Given the description of an element on the screen output the (x, y) to click on. 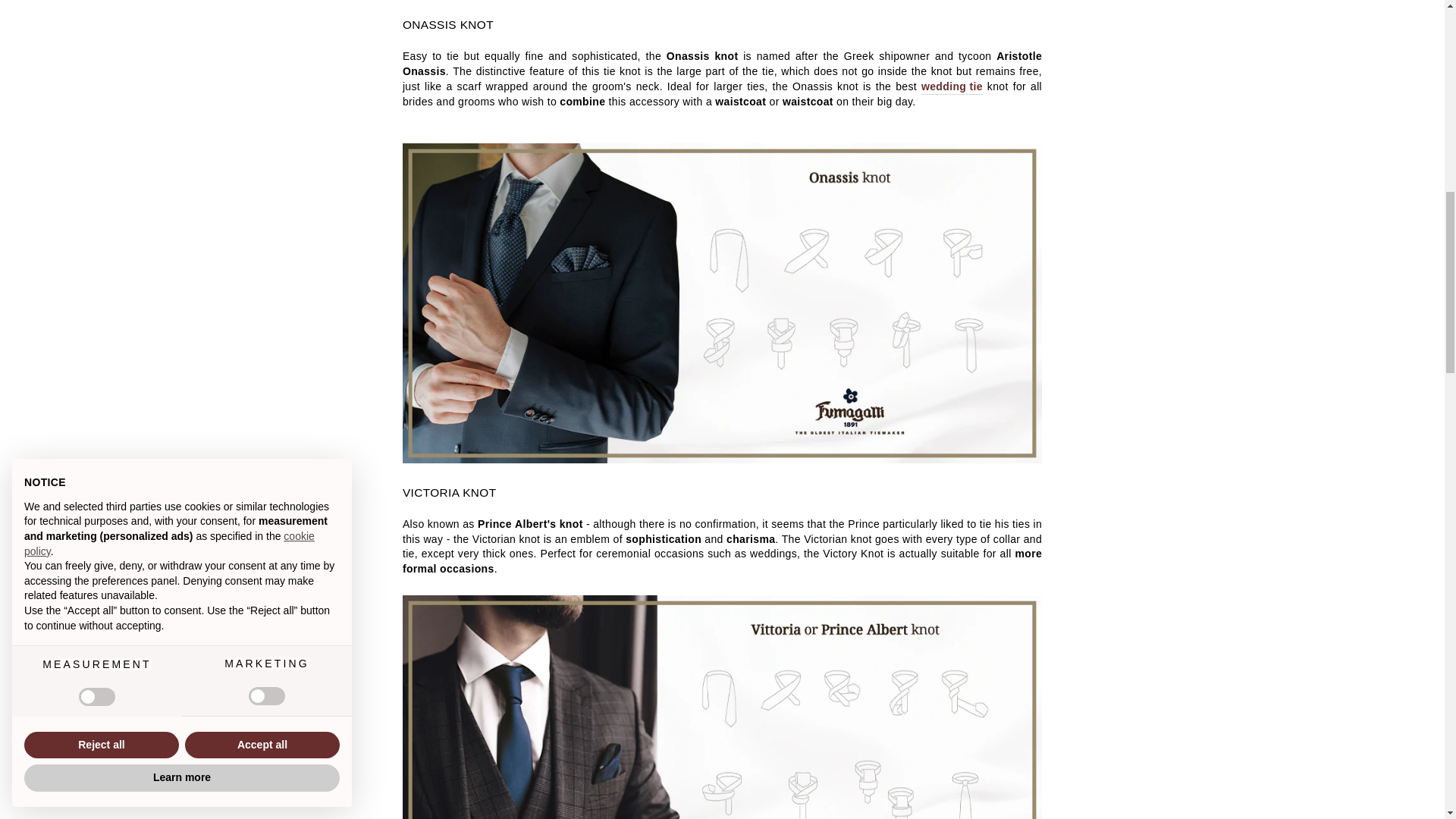
Evening Ties (722, 459)
Ties for wedding (951, 87)
